Given the description of an element on the screen output the (x, y) to click on. 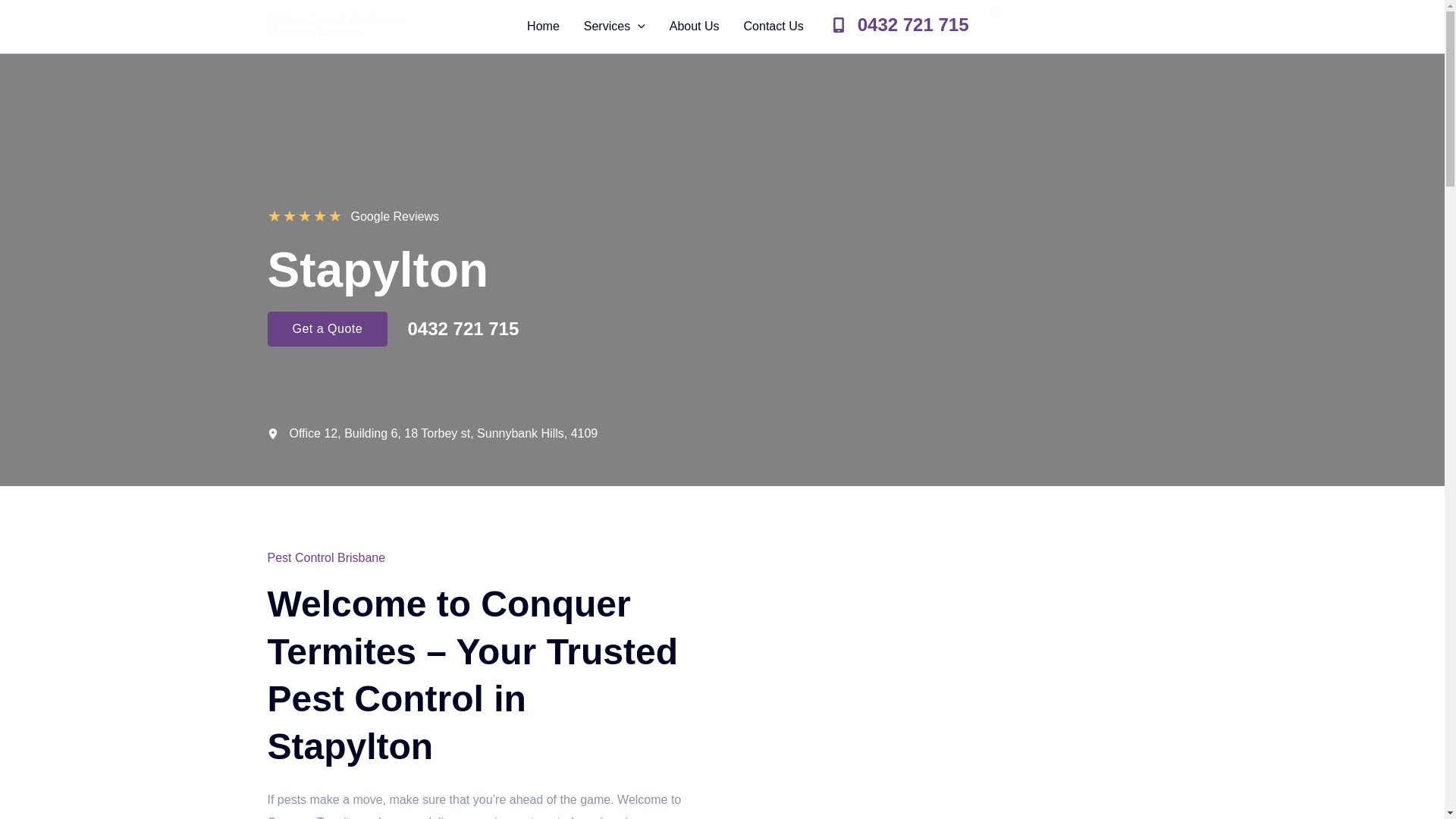
Home (543, 26)
About Us (695, 26)
Services (615, 26)
Pest Control Brisbane (325, 557)
Get a Quote (326, 329)
Contact Us (773, 26)
